Given the description of an element on the screen output the (x, y) to click on. 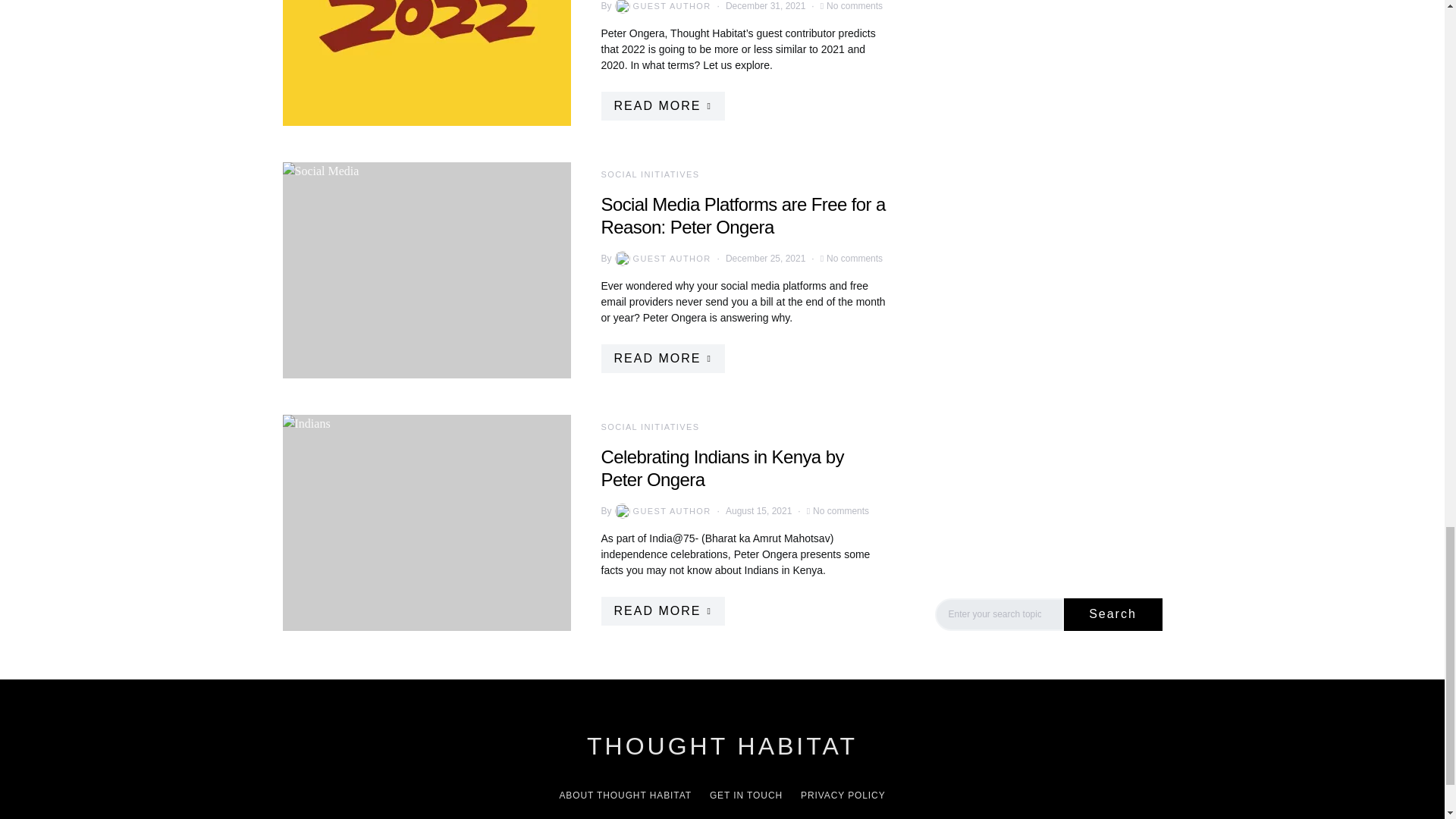
View all posts by Guest Author (661, 6)
View all posts by Guest Author (661, 510)
View all posts by Guest Author (661, 258)
